Given the description of an element on the screen output the (x, y) to click on. 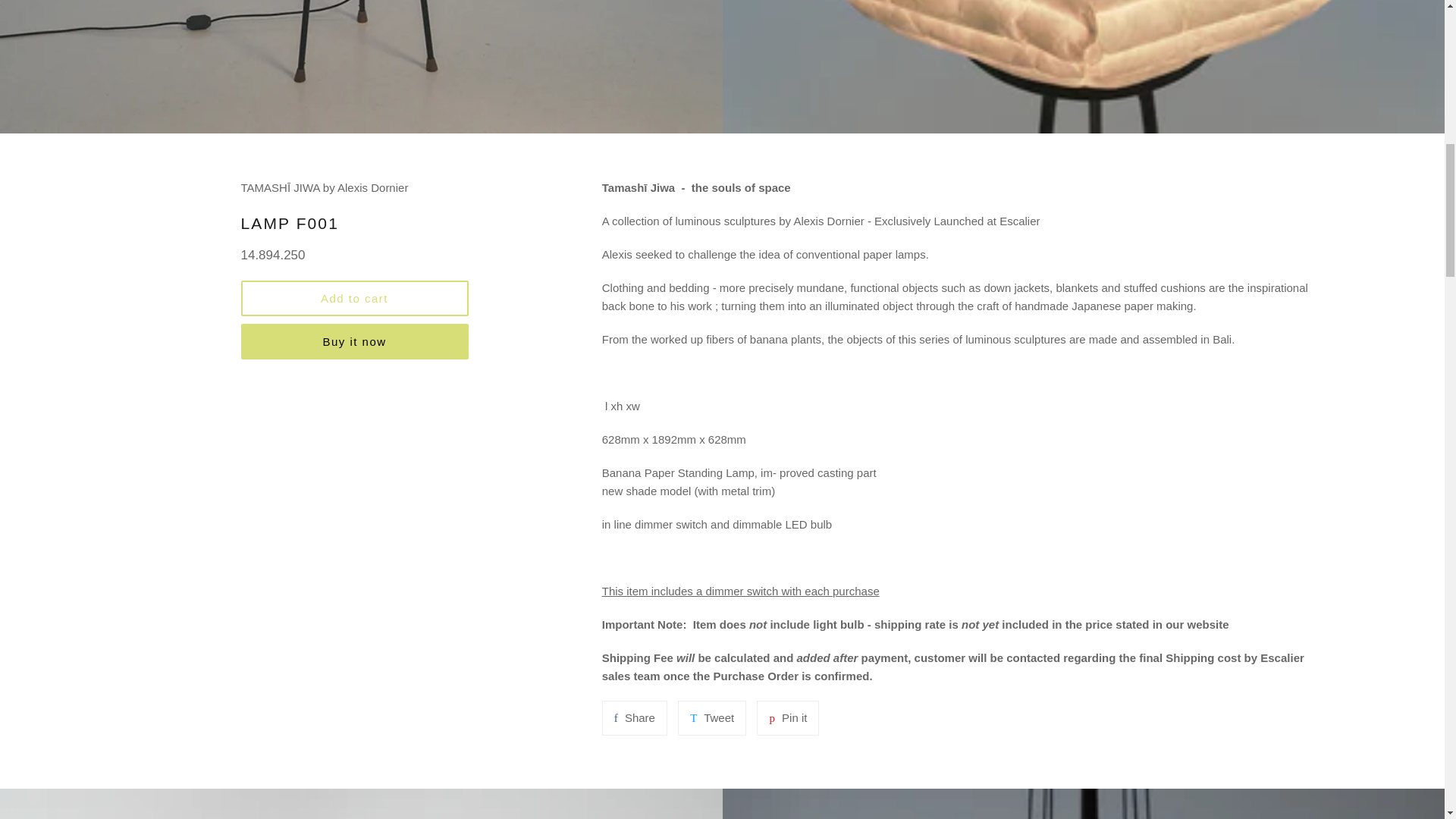
Page 1 (963, 188)
Share on Facebook (634, 718)
Tweet on Twitter (711, 718)
Page 1 (963, 650)
Pin on Pinterest (787, 718)
